Given the description of an element on the screen output the (x, y) to click on. 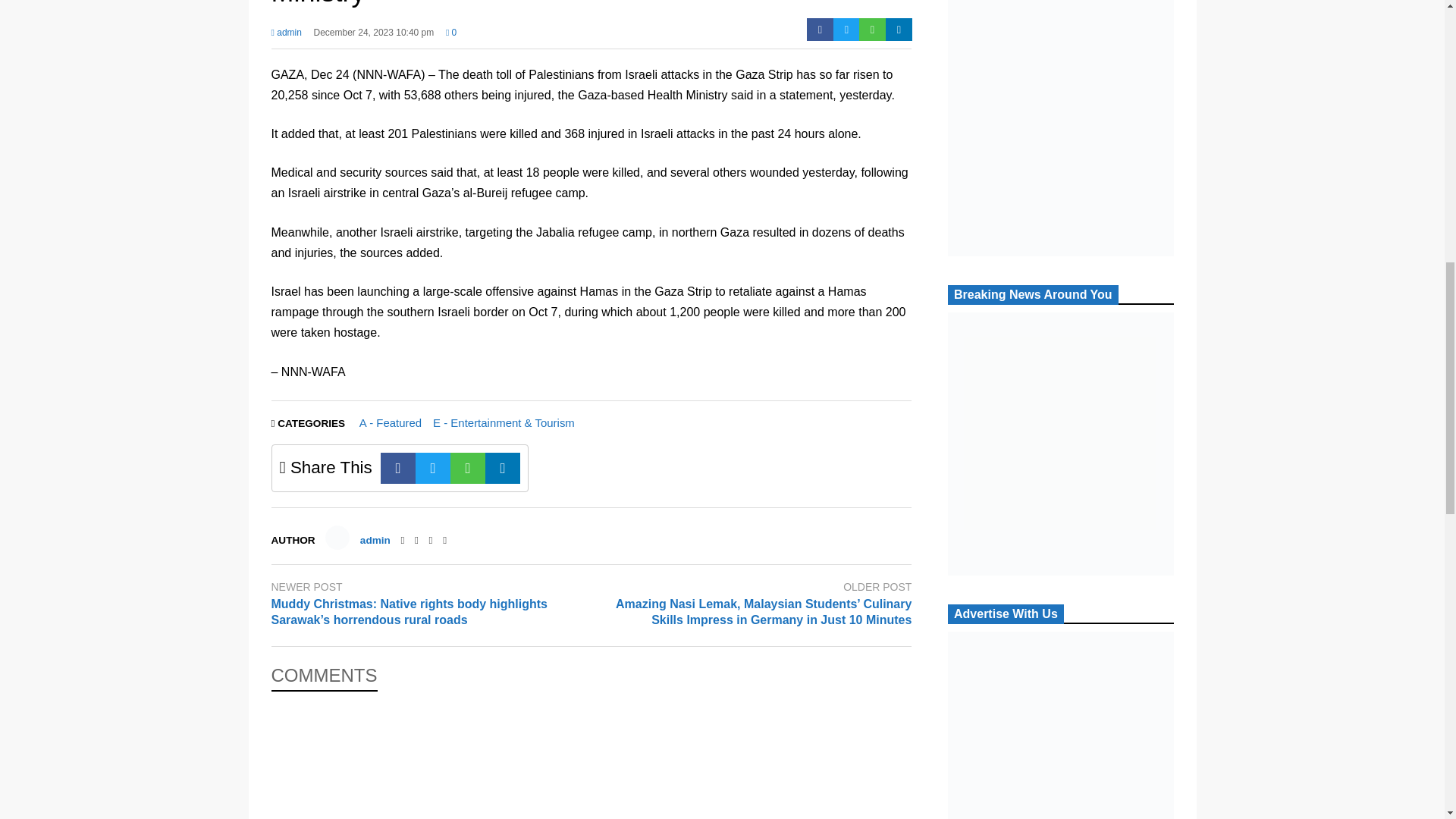
admin (374, 540)
A - Featured (390, 422)
Whatsapp (872, 29)
Facebook (397, 468)
Whatsapp (466, 468)
Facebook (819, 29)
Linkedin (898, 29)
Twitter (846, 29)
December 24, 2023 10:40 pm (373, 36)
admin (285, 36)
